Given the description of an element on the screen output the (x, y) to click on. 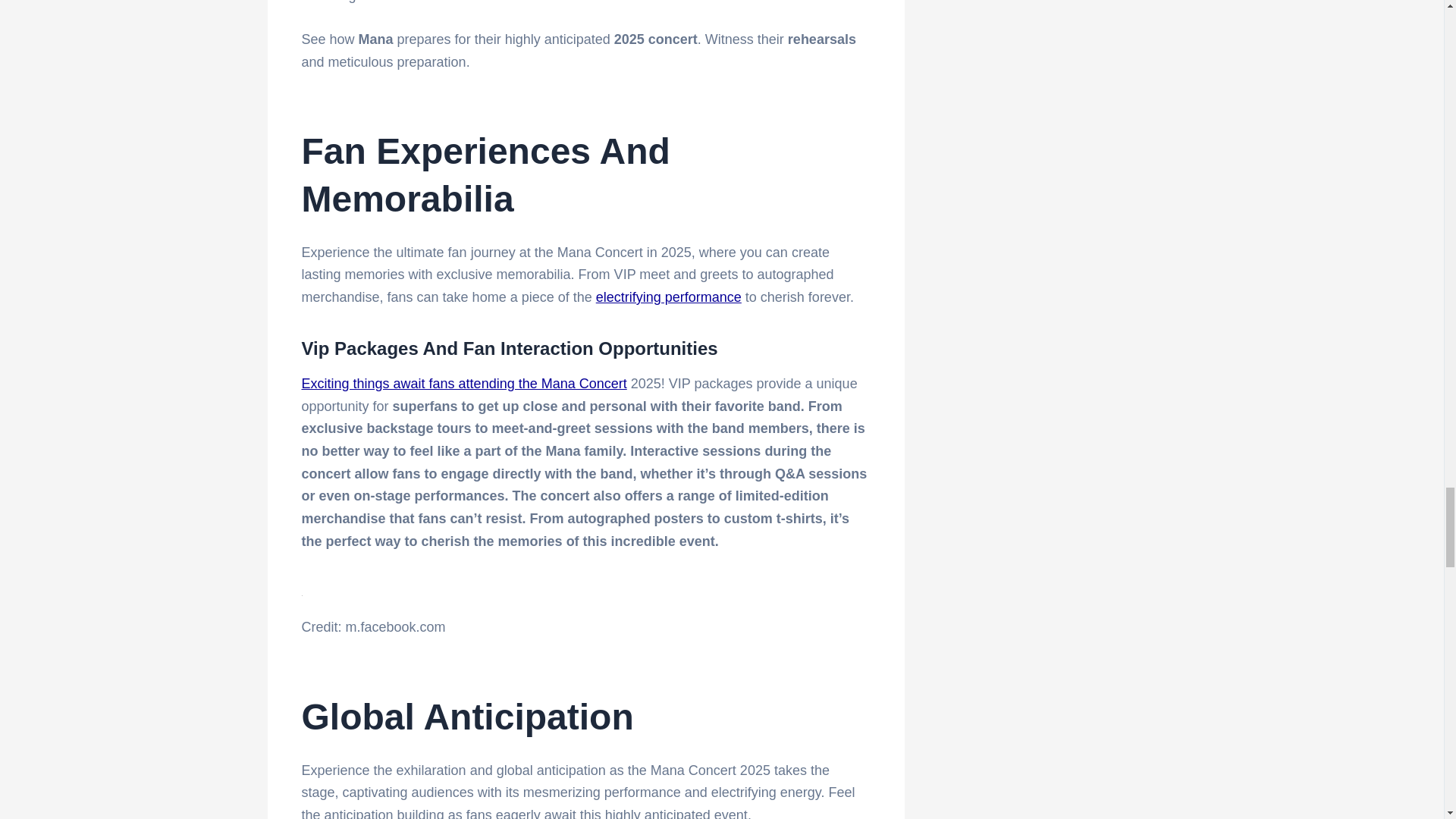
electrifying performance (668, 296)
Exciting things await fans attending the Mana Concert (464, 383)
